Given the description of an element on the screen output the (x, y) to click on. 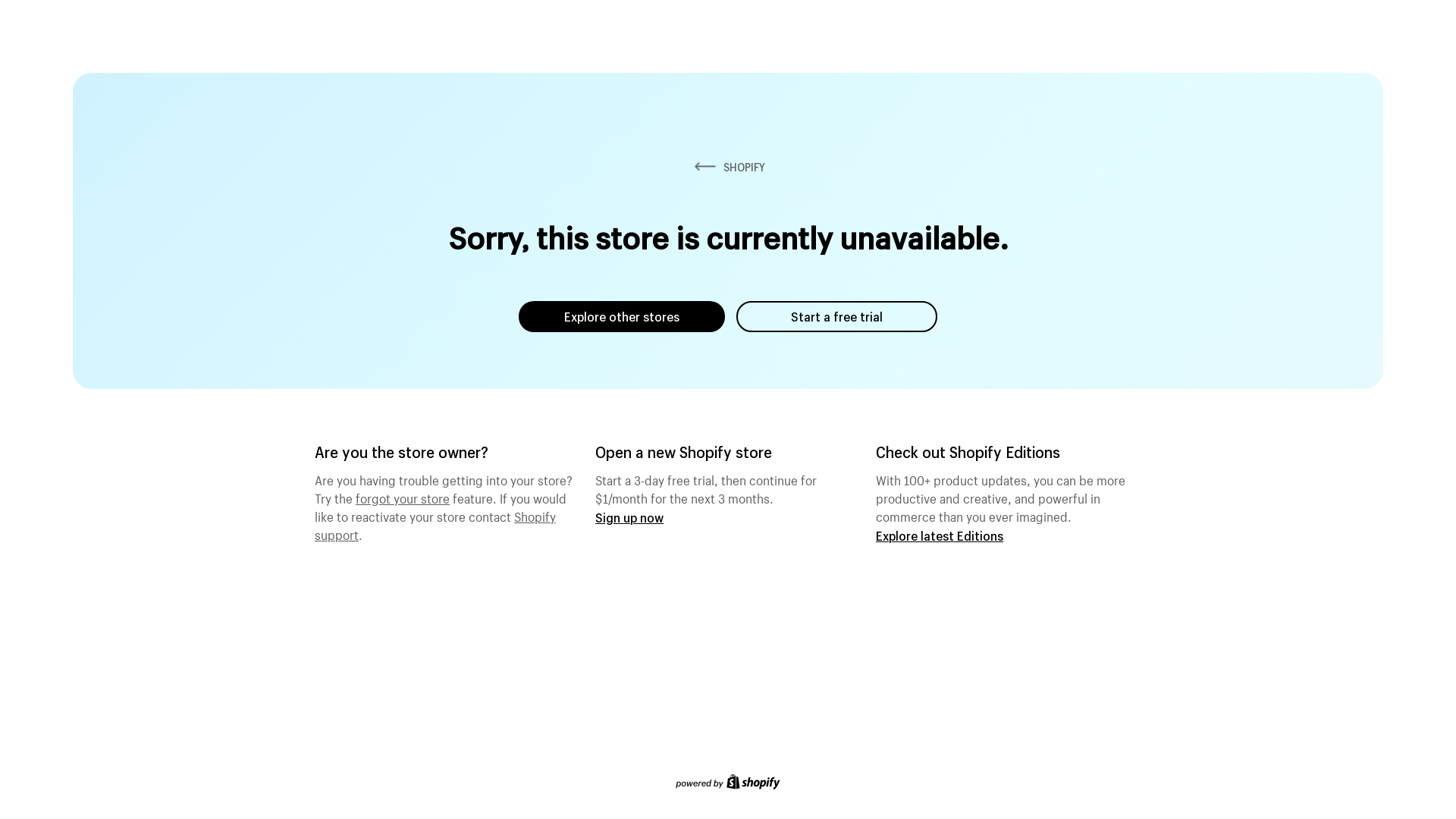
Shopify support Element type: text (434, 523)
Explore other stores Element type: text (621, 316)
forgot your store Element type: text (402, 496)
Start a free trial Element type: text (836, 316)
Sign up now Element type: text (629, 517)
SHOPIFY Element type: text (727, 167)
Explore latest Editions Element type: text (939, 535)
